Given the description of an element on the screen output the (x, y) to click on. 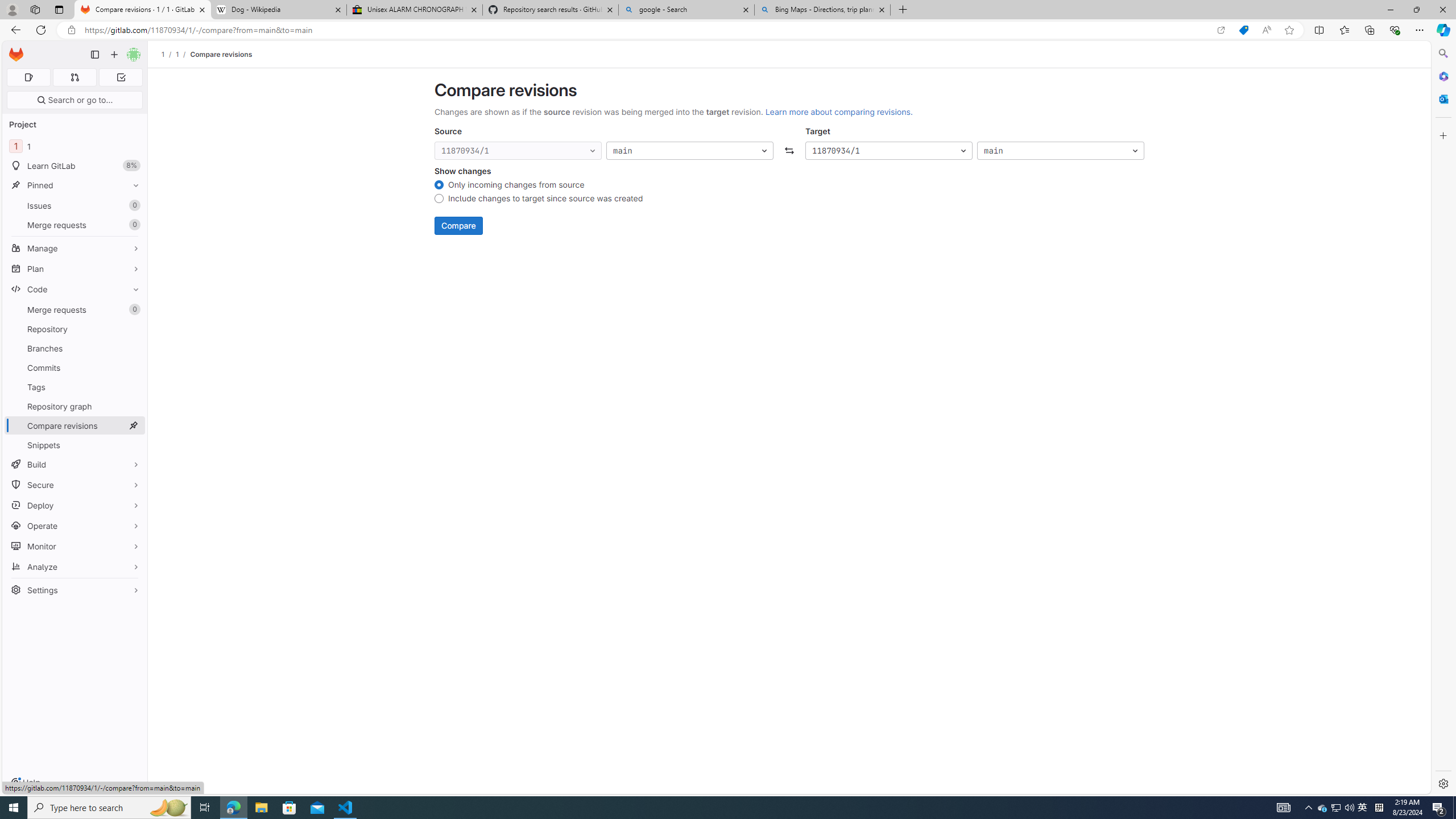
Compare (458, 226)
1/ (183, 53)
Compare revisions (220, 53)
Monitor (74, 546)
Create new... (113, 54)
Code (74, 289)
Plan (74, 268)
Issues 0 (74, 205)
1 1 (74, 145)
Deploy (74, 505)
To-Do list 0 (120, 76)
